Given the description of an element on the screen output the (x, y) to click on. 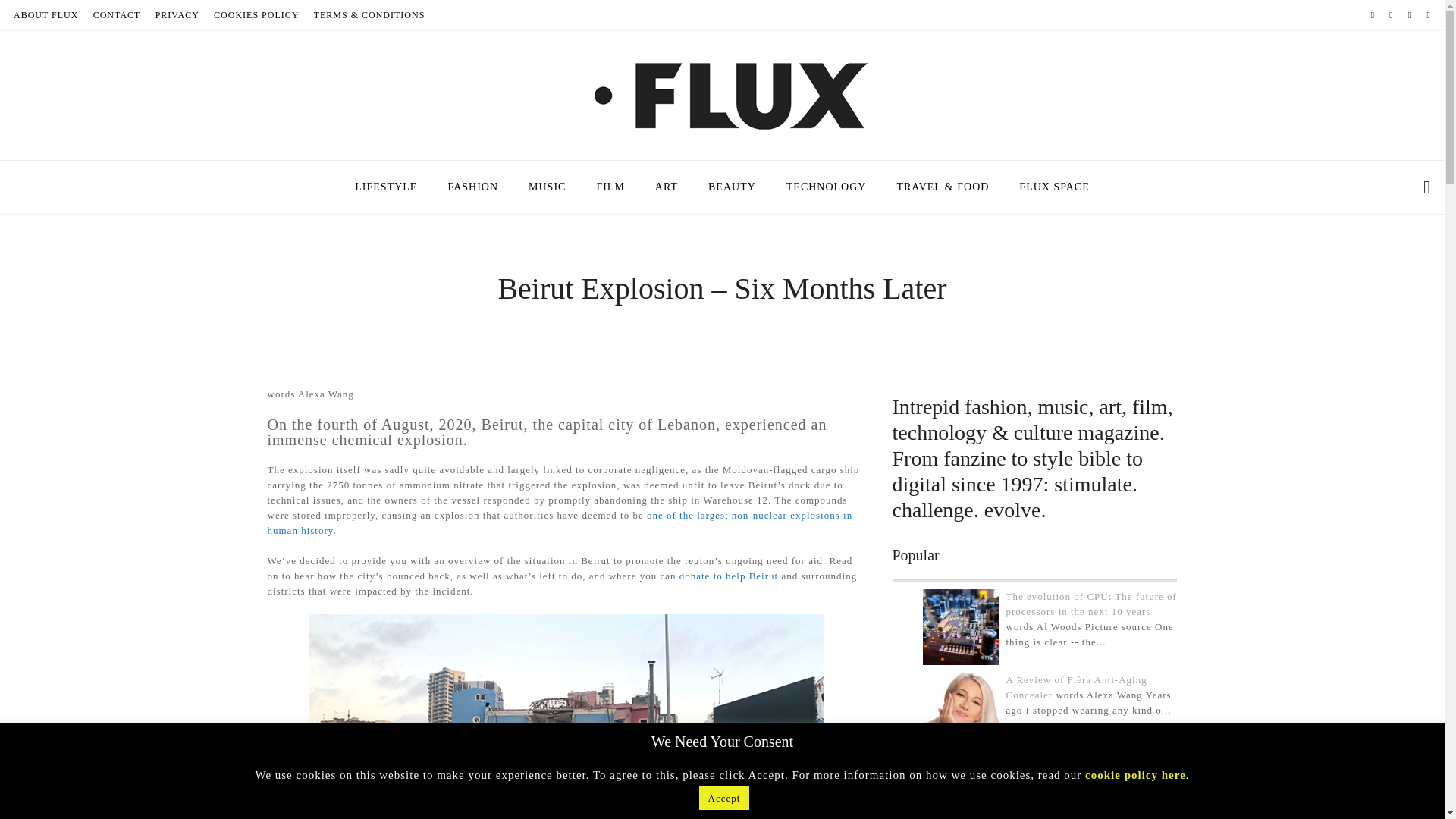
TECHNOLOGY (826, 186)
FILM (609, 186)
MUSIC (546, 186)
ART (666, 186)
LIFESTYLE (385, 186)
FASHION (472, 186)
BEAUTY (732, 186)
PRIVACY (177, 15)
CONTACT (117, 15)
COOKIES POLICY (256, 15)
ABOUT FLUX (45, 15)
